Given the description of an element on the screen output the (x, y) to click on. 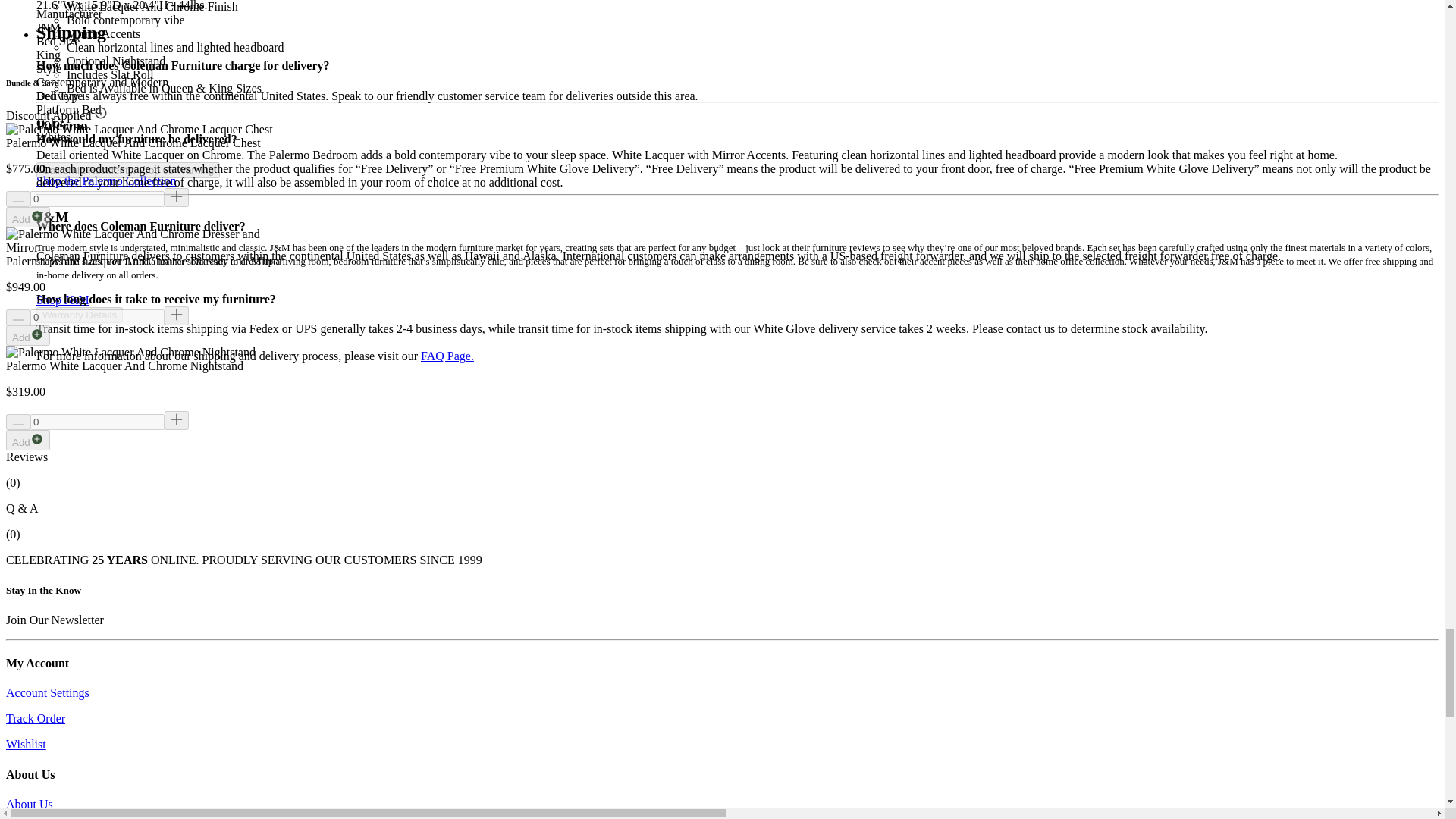
0 (97, 421)
FAQ (447, 355)
0 (97, 317)
0 (97, 198)
